Given the description of an element on the screen output the (x, y) to click on. 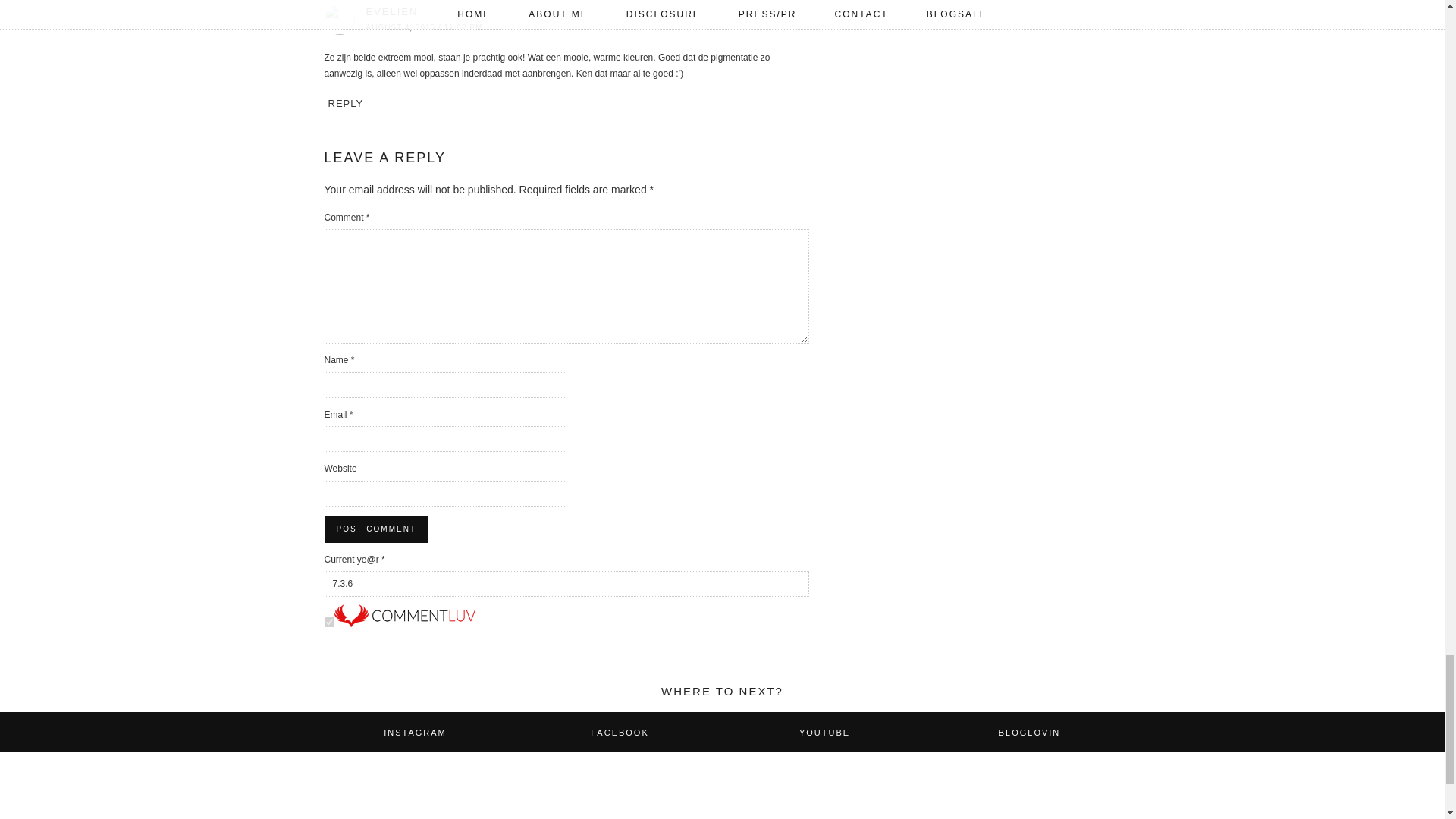
REPLY (344, 102)
on (329, 622)
Post Comment (376, 528)
Post Comment (376, 528)
7.3.6 (566, 583)
EVELIEN (391, 11)
